Given the description of an element on the screen output the (x, y) to click on. 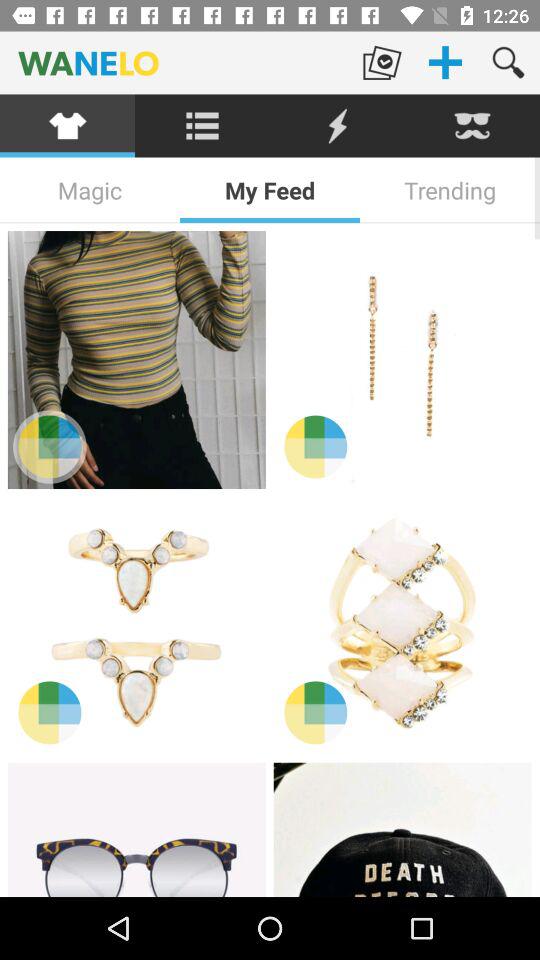
color selection (49, 446)
